Given the description of an element on the screen output the (x, y) to click on. 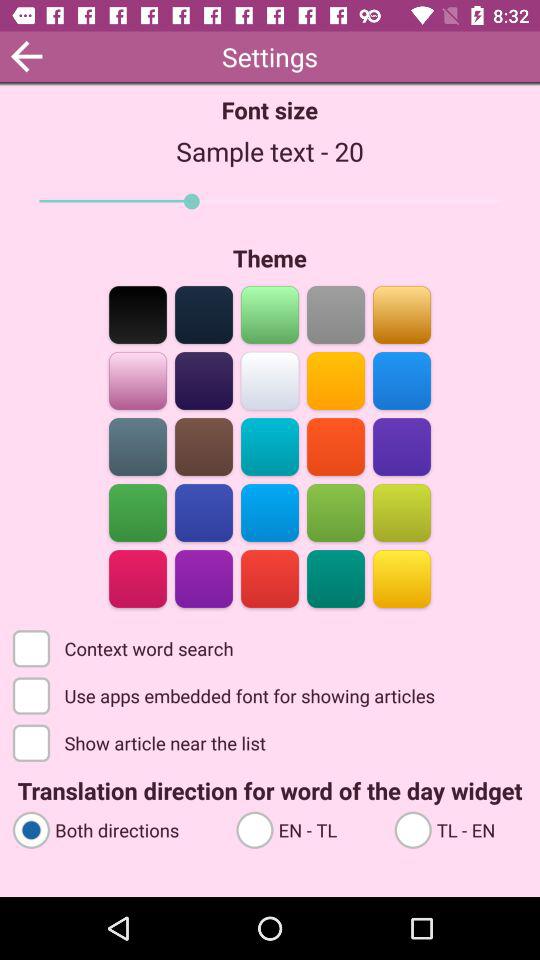
open app to the left of font size item (26, 56)
